Given the description of an element on the screen output the (x, y) to click on. 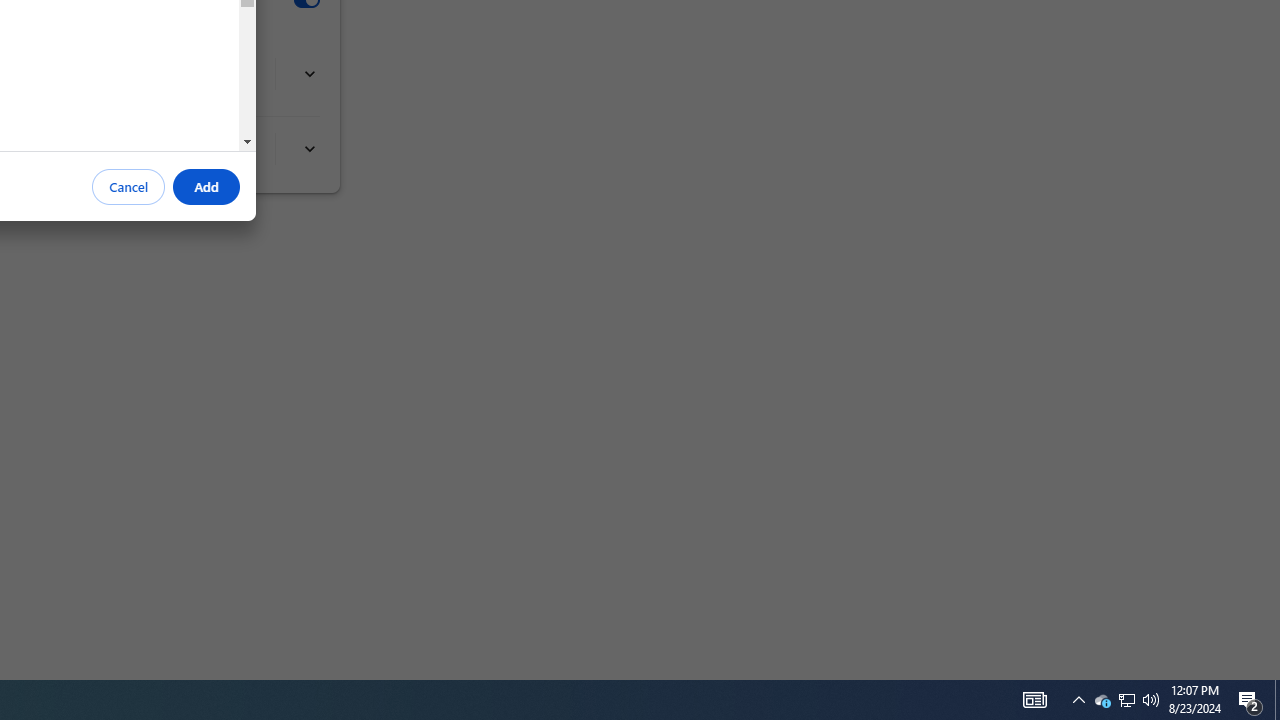
Cancel (129, 187)
Add (206, 187)
